Given the description of an element on the screen output the (x, y) to click on. 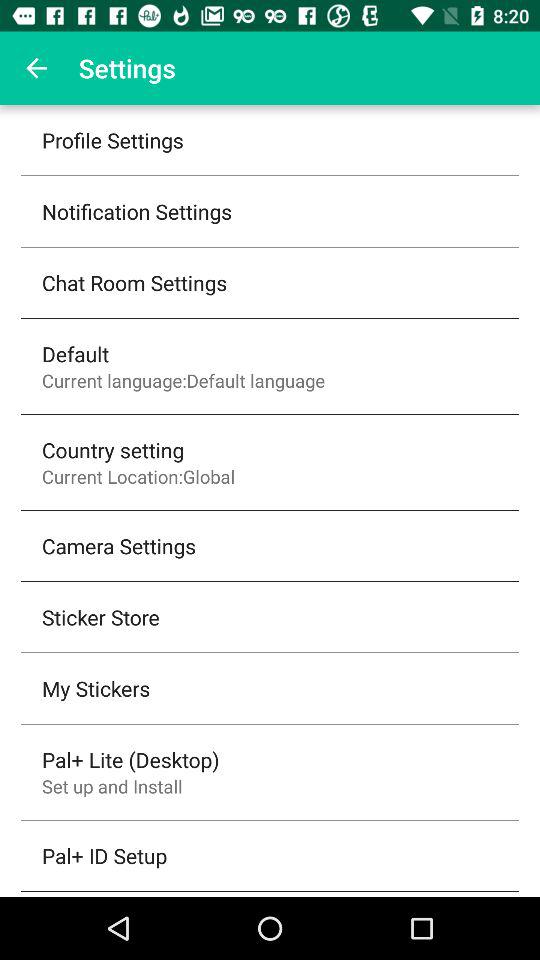
turn on the icon above the pal+ id setup icon (112, 785)
